Given the description of an element on the screen output the (x, y) to click on. 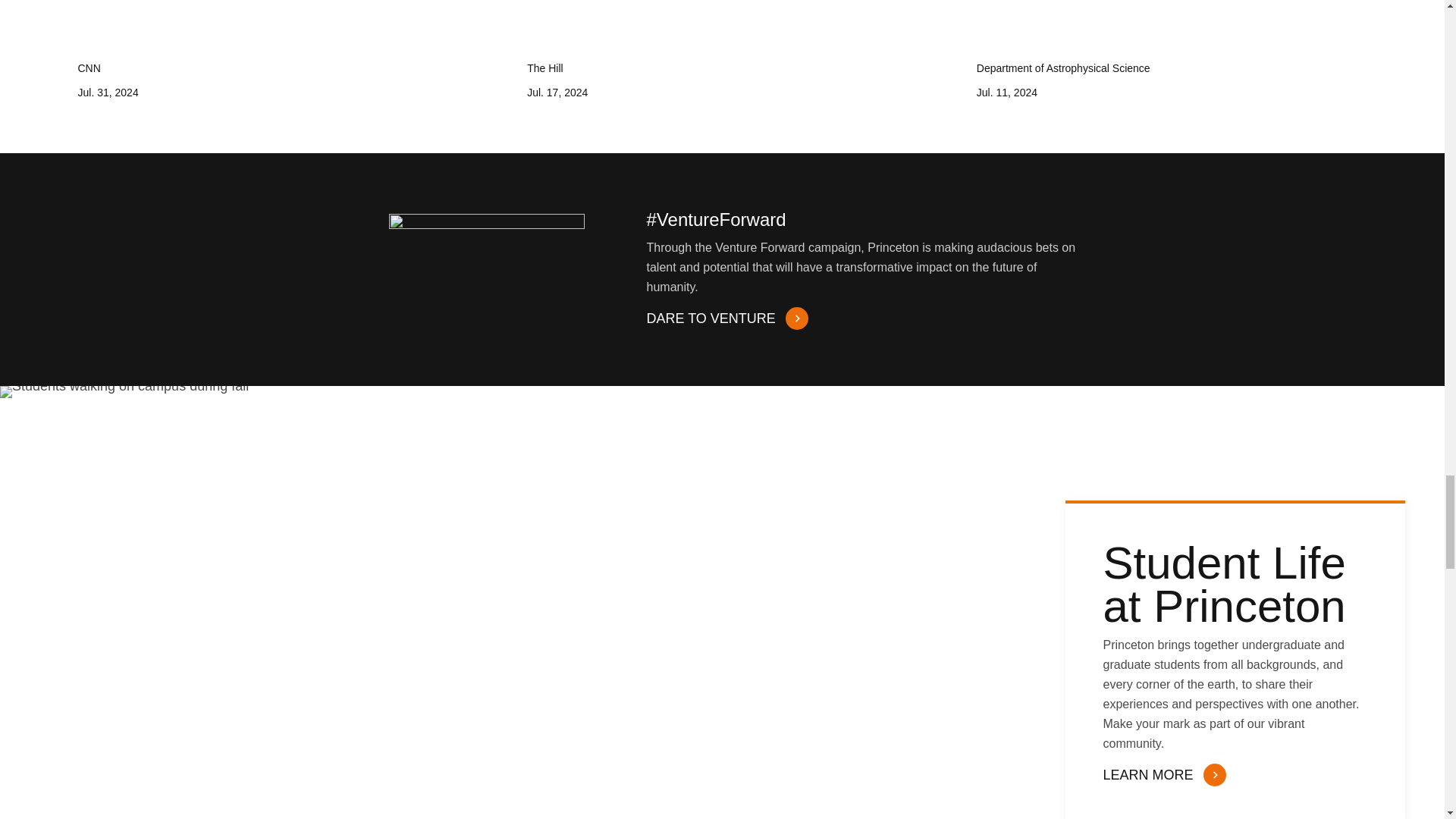
LEARN MORE (1162, 774)
DARE TO VENTURE (725, 318)
